Given the description of an element on the screen output the (x, y) to click on. 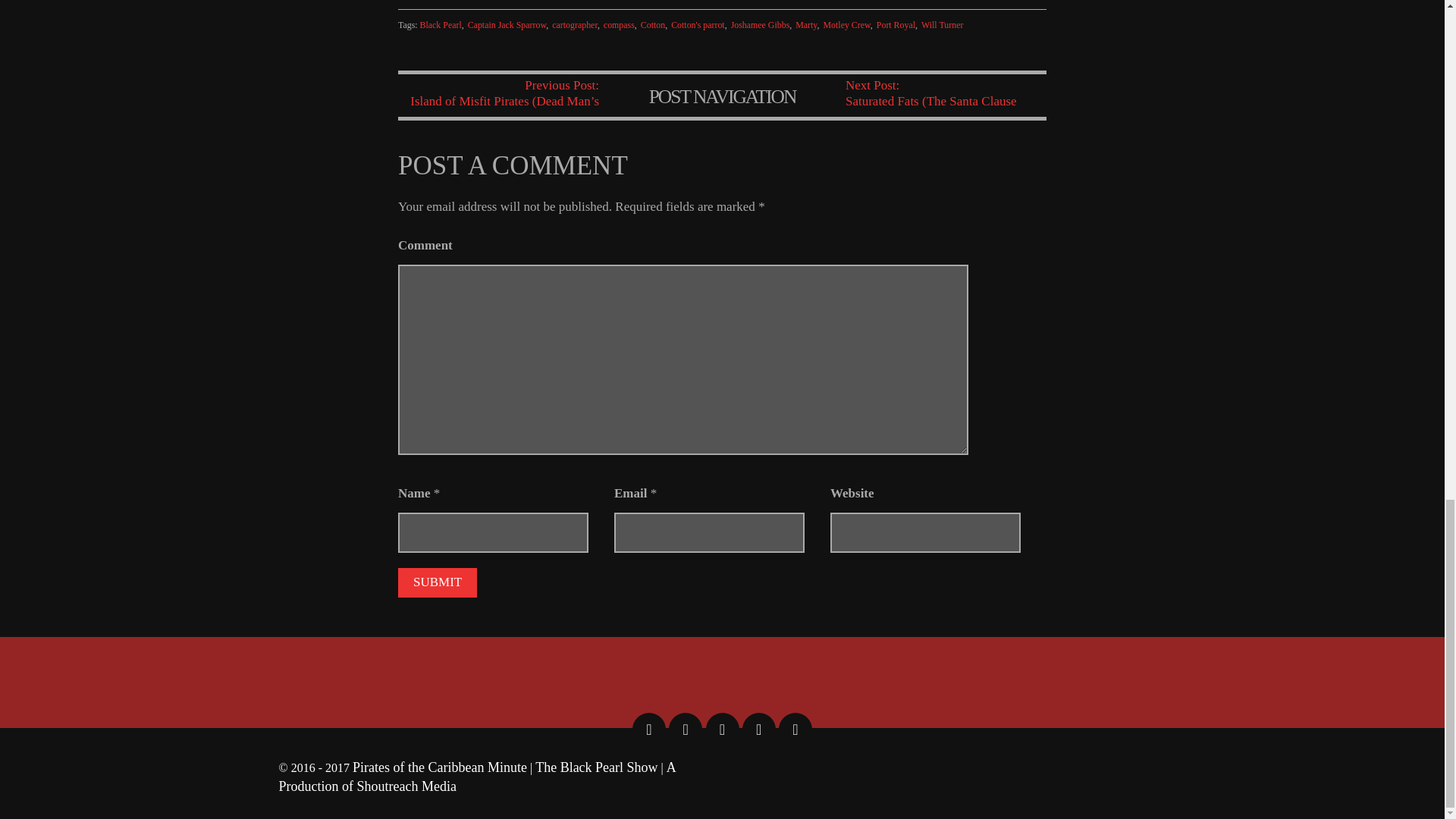
Submit (437, 582)
